Given the description of an element on the screen output the (x, y) to click on. 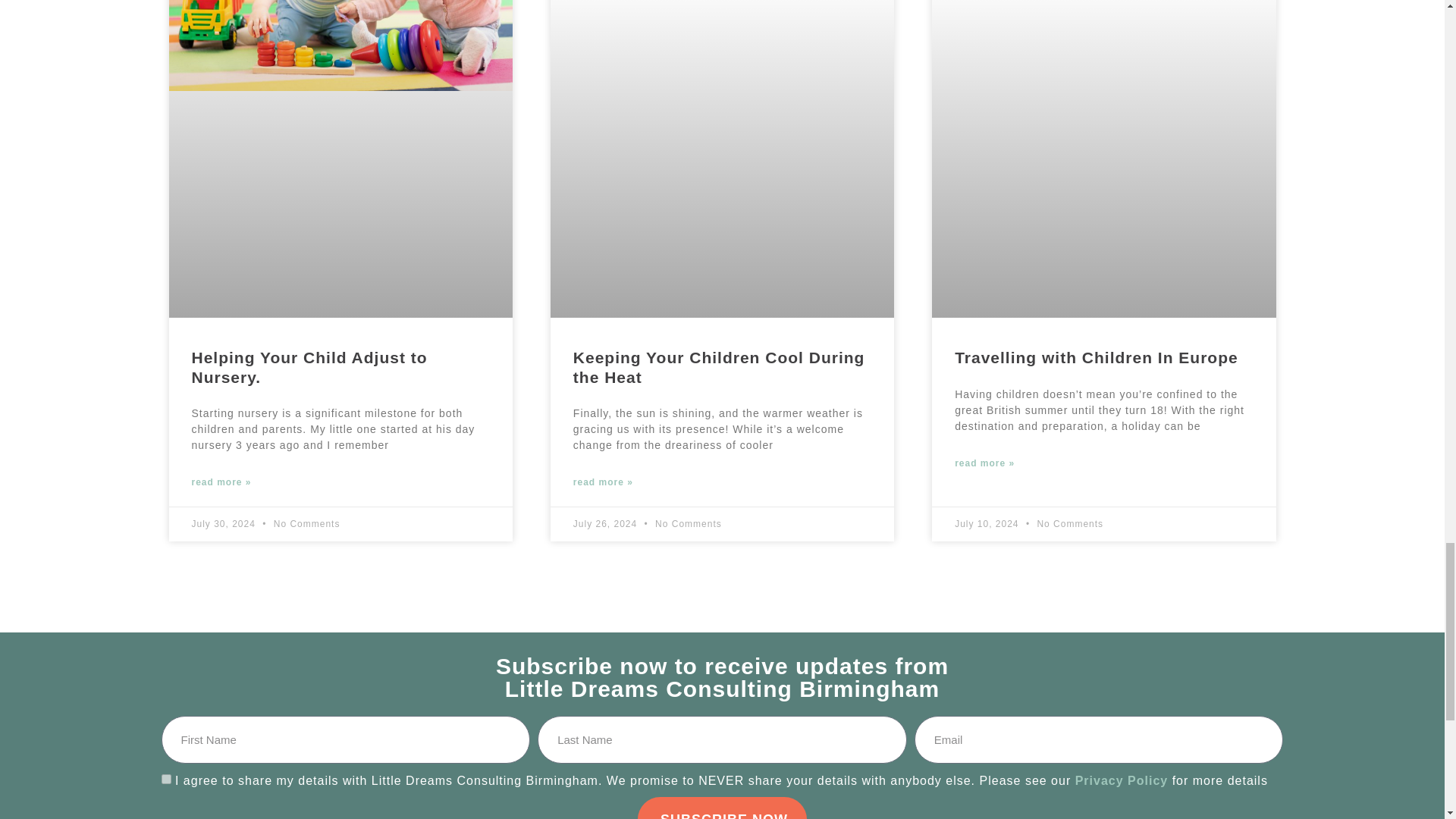
on (165, 778)
